Given the description of an element on the screen output the (x, y) to click on. 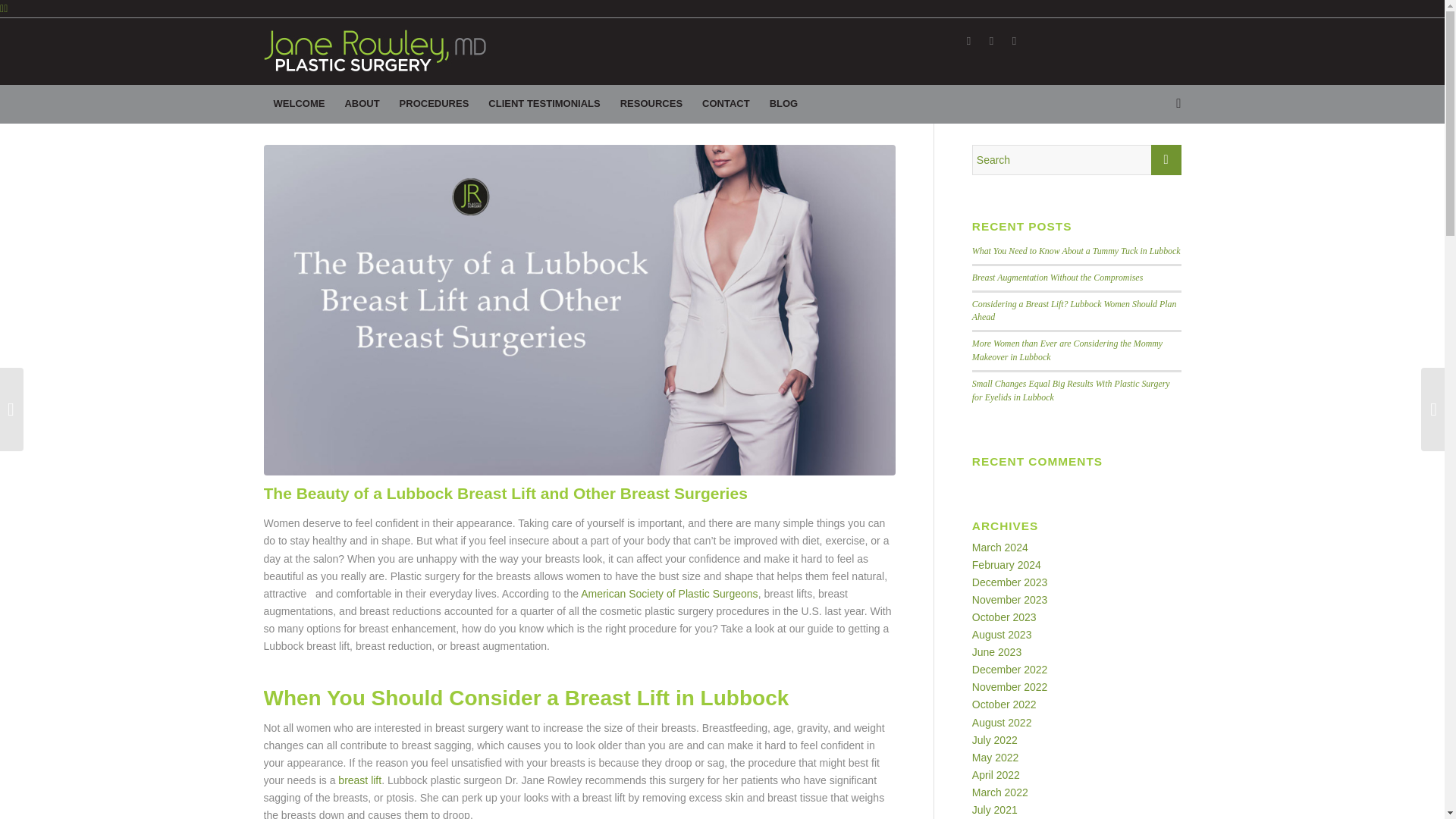
PROCEDURES (434, 103)
American Society of Plastic Surgeons (668, 593)
Facebook (967, 40)
jr-plastic-surgery-logo (374, 50)
ABOUT (361, 103)
WELCOME (298, 103)
CLIENT TESTIMONIALS (544, 103)
breast lift (359, 779)
CONTACT (726, 103)
Youtube (1014, 40)
RESOURCES (651, 103)
Twitter (991, 40)
BLOG (784, 103)
